Given the description of an element on the screen output the (x, y) to click on. 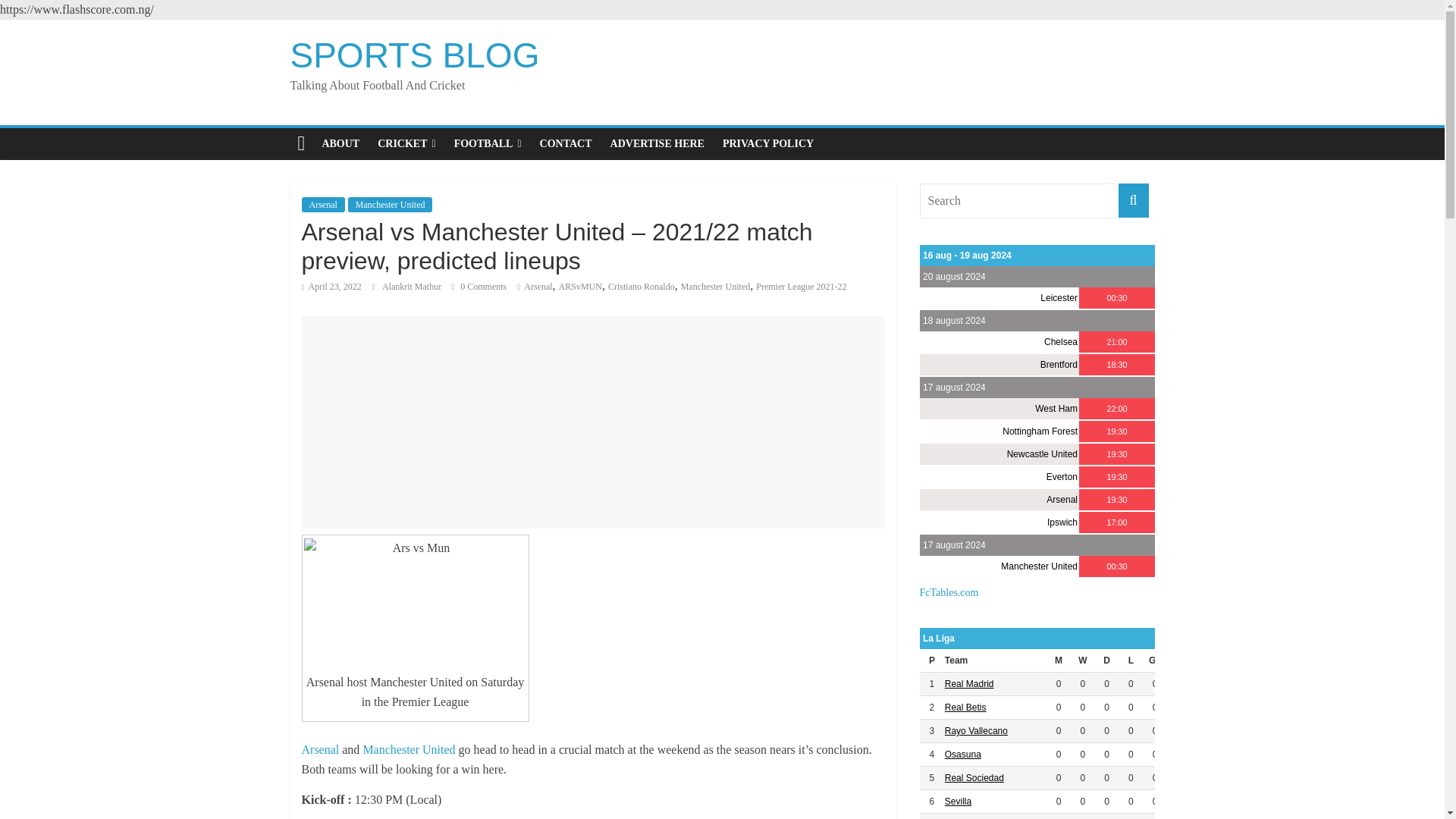
ADVERTISE HERE (657, 143)
Manchester United (716, 286)
CONTACT (566, 143)
Premier League 2021-22 (800, 286)
Alankrit Mathur (412, 286)
Advertisement (593, 422)
9:41 am (331, 286)
0 Comments (478, 286)
April 23, 2022 (331, 286)
Manchester United (408, 748)
